Given the description of an element on the screen output the (x, y) to click on. 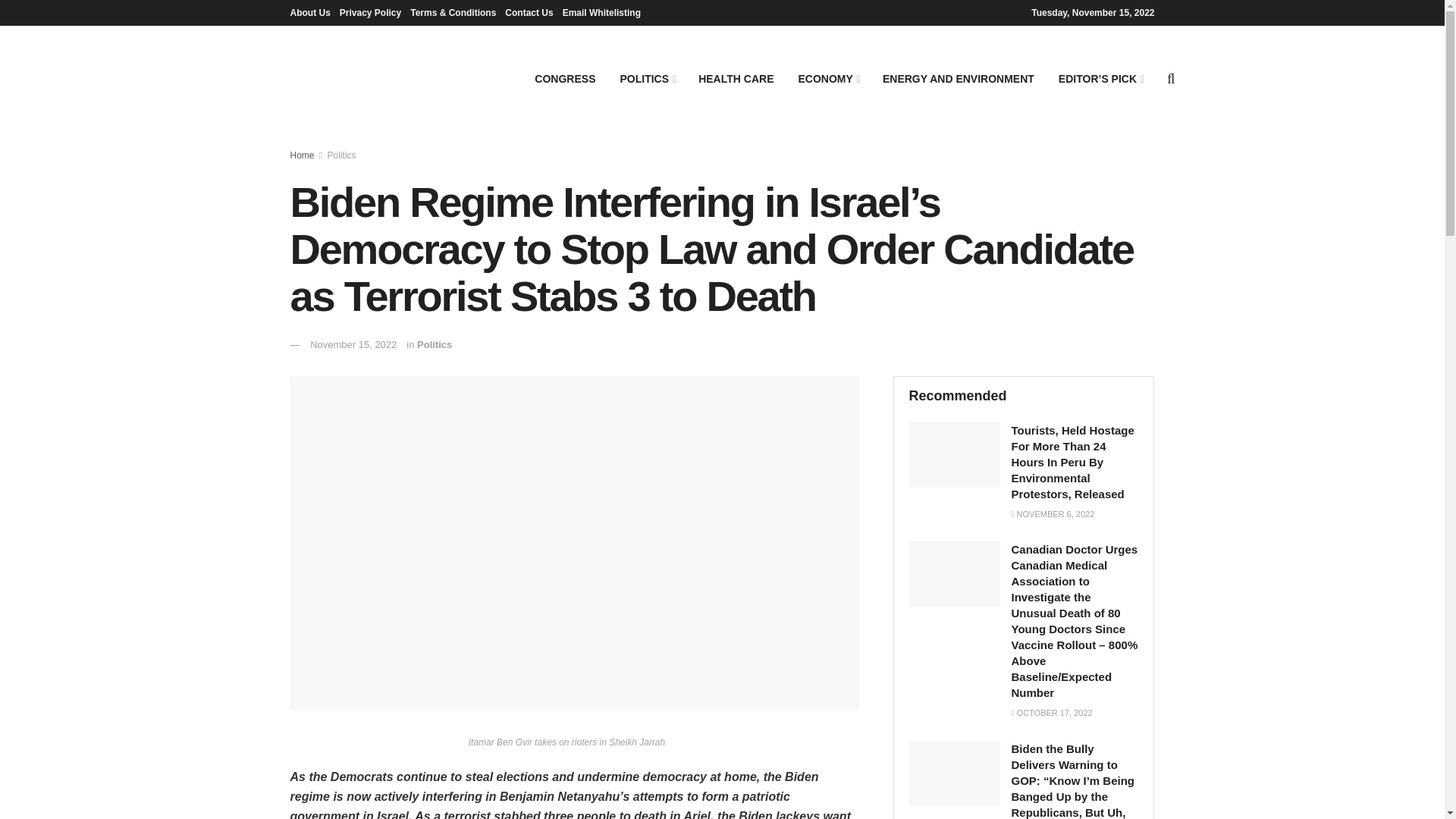
About Us (309, 12)
Email Whitelisting (601, 12)
Contact Us (529, 12)
ENERGY AND ENVIRONMENT (958, 78)
Privacy Policy (370, 12)
ECONOMY (827, 78)
CONGRESS (564, 78)
HEALTH CARE (735, 78)
POLITICS (646, 78)
